Given the description of an element on the screen output the (x, y) to click on. 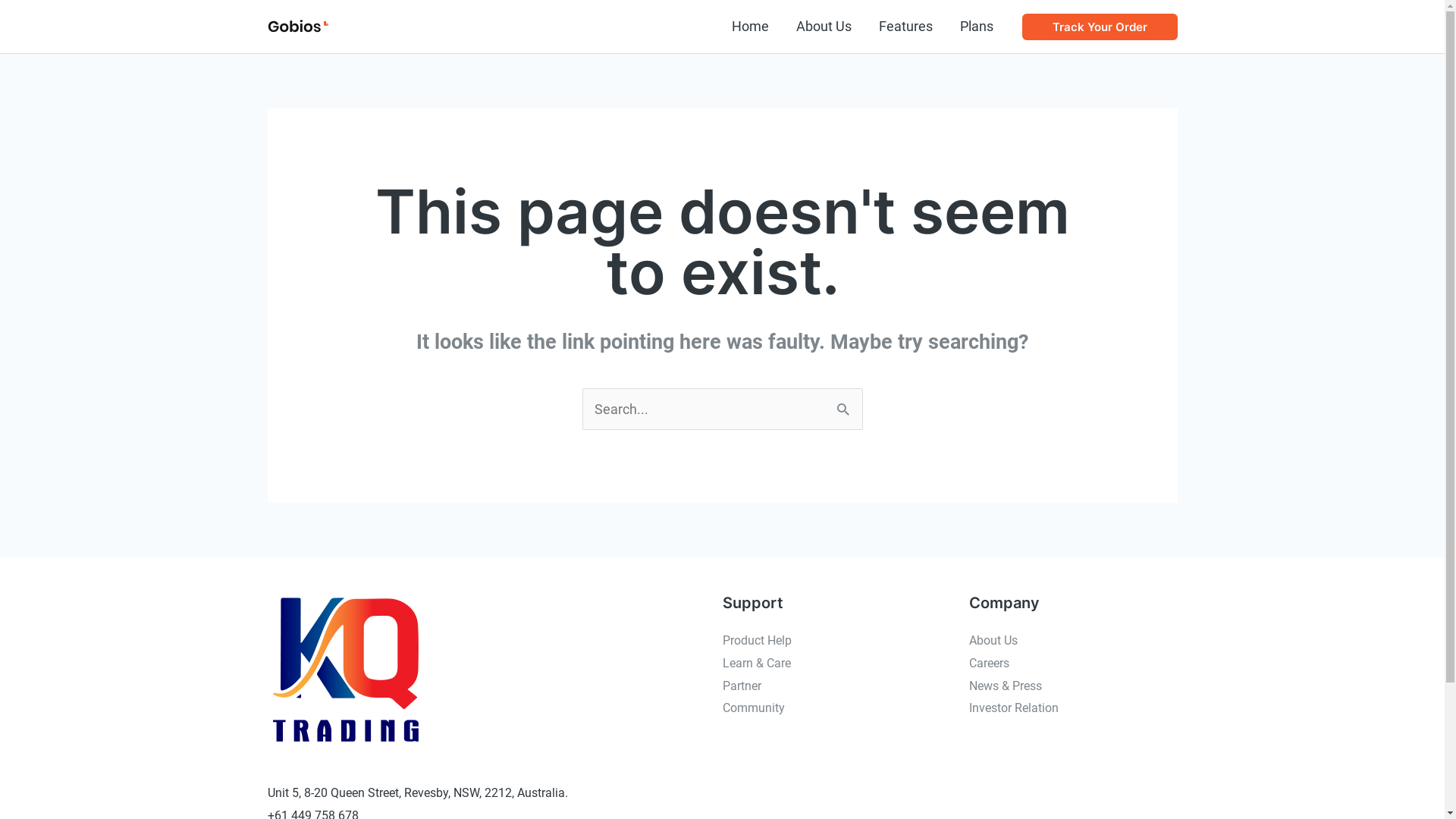
Careers Element type: text (989, 662)
Learn & Care Element type: text (755, 662)
About Us Element type: text (823, 26)
Search Element type: text (845, 403)
Features Element type: text (904, 26)
Product Help Element type: text (755, 640)
Track Your Order Element type: text (1099, 26)
About Us Element type: text (993, 640)
Community Element type: text (752, 707)
News & Press Element type: text (1005, 685)
Investor Relation Element type: text (1013, 707)
Home Element type: text (749, 26)
Plans Element type: text (976, 26)
Partner Element type: text (740, 685)
